Given the description of an element on the screen output the (x, y) to click on. 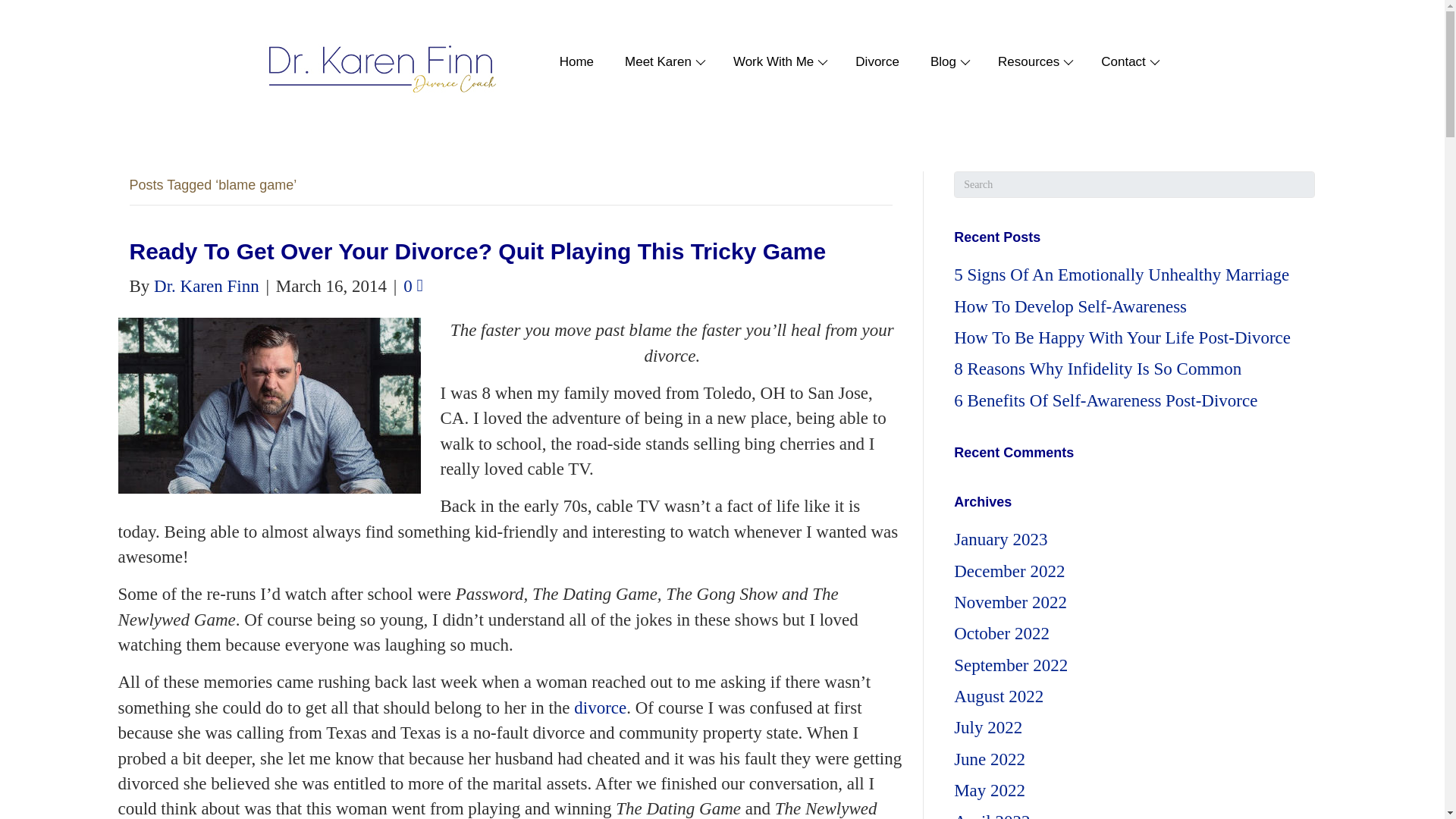
Divorce (869, 61)
Resources (1026, 61)
Meet Karen (656, 61)
Work With Me (770, 61)
Contact (1120, 61)
Blog (940, 61)
Type and press Enter to search. (1133, 184)
Home (569, 61)
Logo-Dr-Karen-Finn (381, 70)
